Given the description of an element on the screen output the (x, y) to click on. 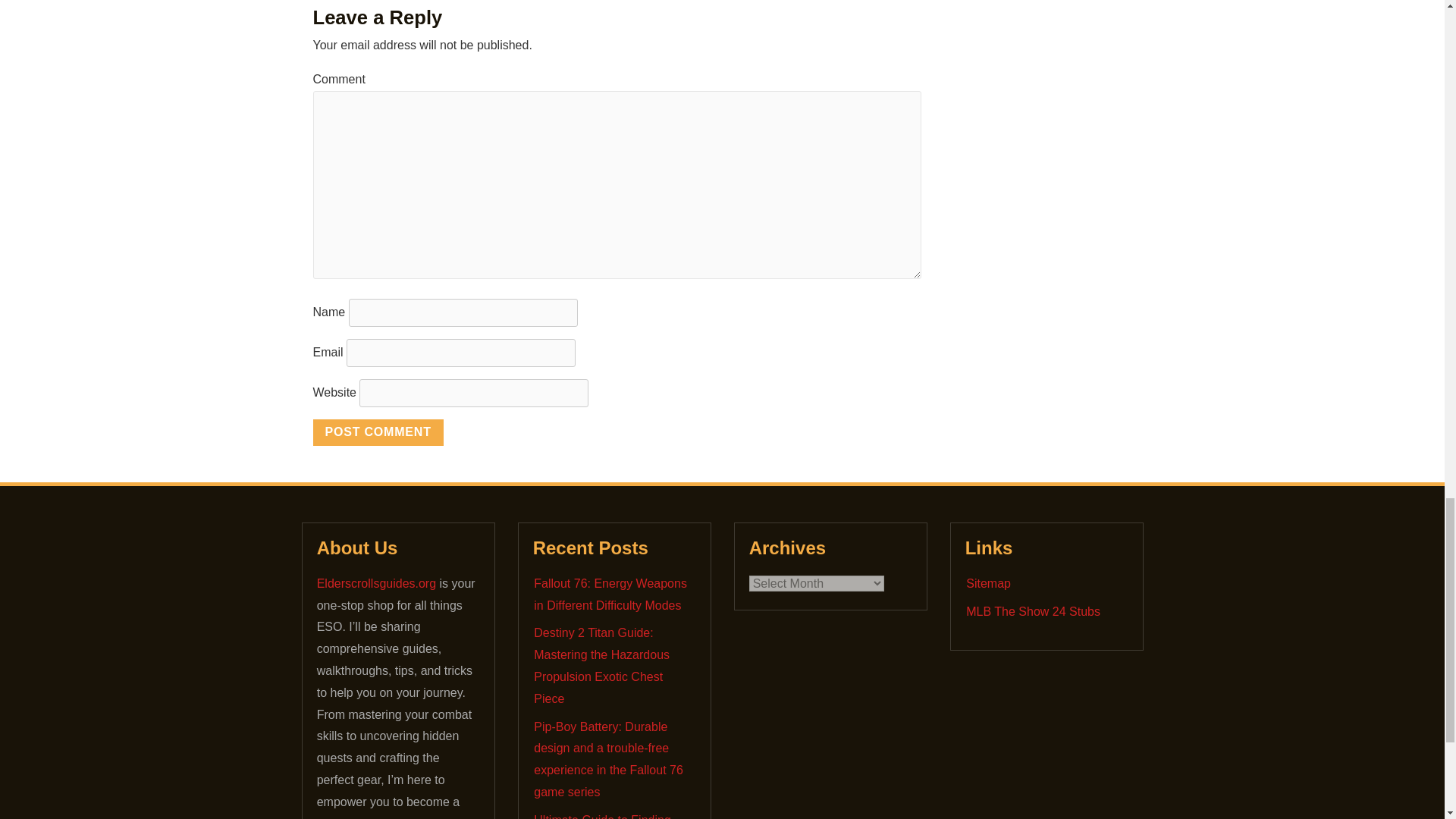
Post Comment (377, 432)
